Given the description of an element on the screen output the (x, y) to click on. 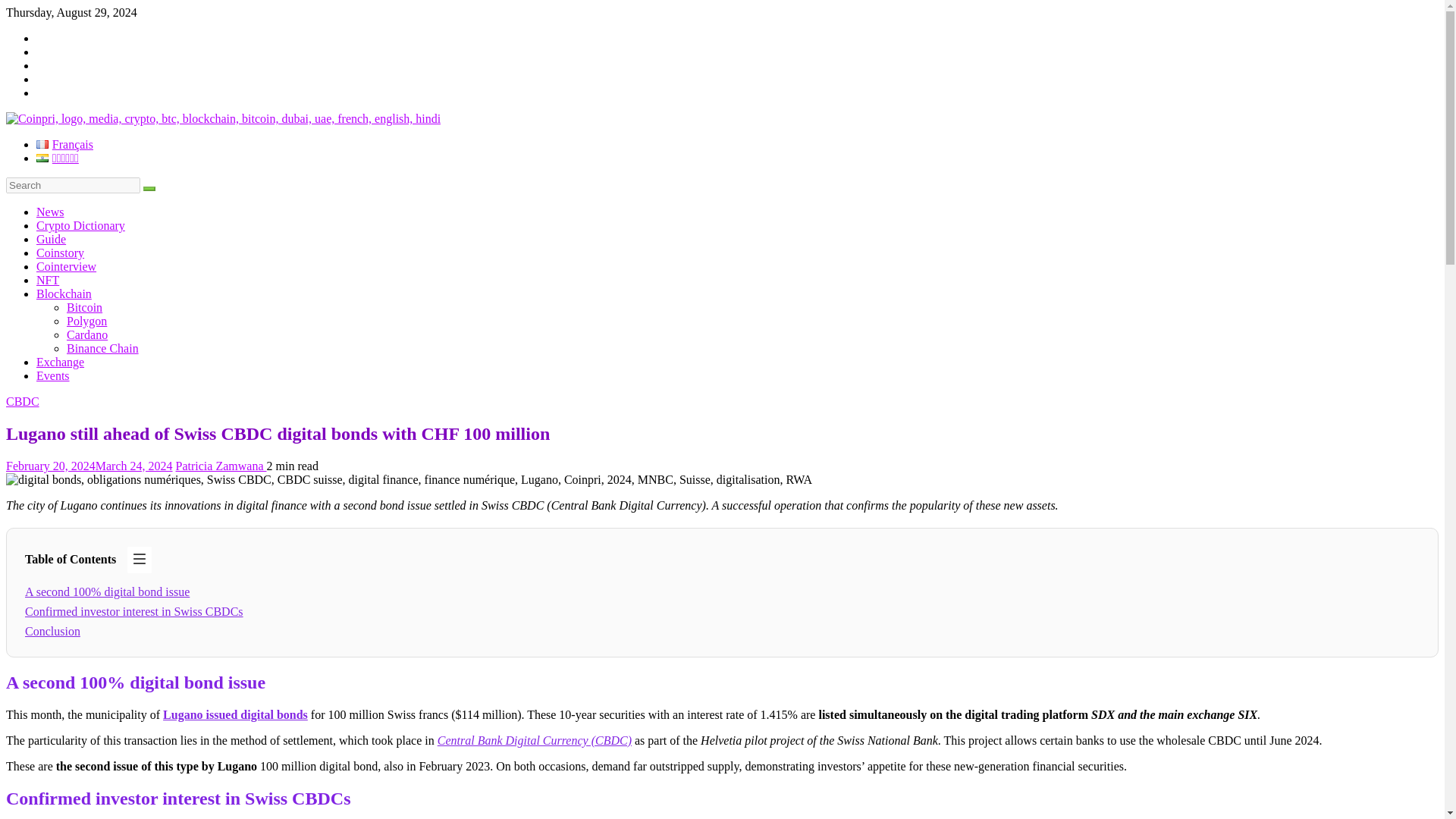
CBDC (22, 400)
Coinstory (60, 252)
Cardano (86, 334)
Crypto Dictionary (80, 225)
Guide (50, 238)
12:18 am (89, 465)
February 20, 2024March 24, 2024 (89, 465)
Patricia Zamwana (221, 465)
